Given the description of an element on the screen output the (x, y) to click on. 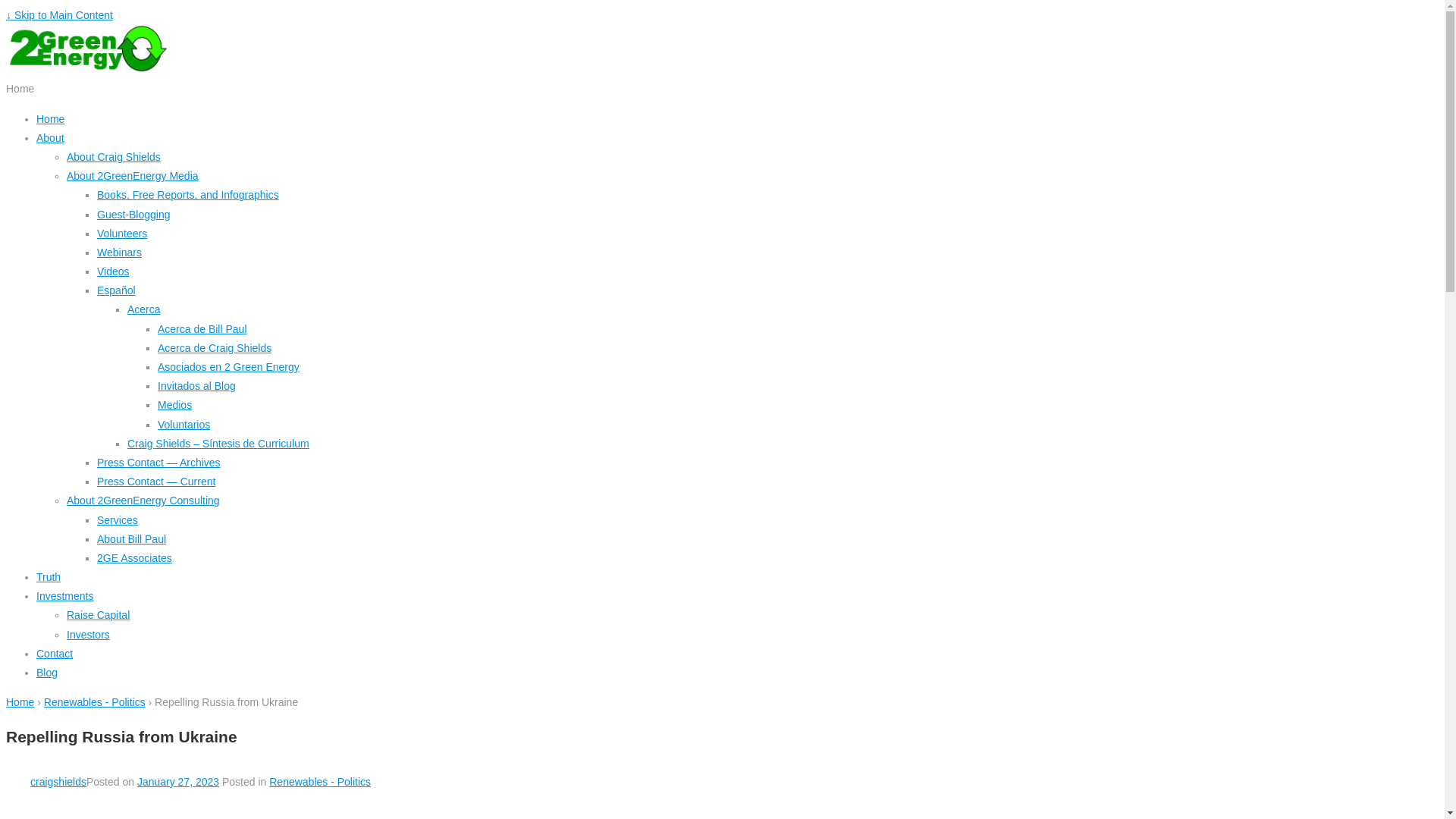
Home Element type: text (50, 118)
Acerca de Bill Paul Element type: text (202, 329)
About Craig Shields Element type: text (113, 156)
Blog Element type: text (46, 672)
Home Element type: text (20, 702)
Invitados al Blog Element type: text (196, 385)
Contact Element type: text (54, 653)
Raise Capital Element type: text (97, 614)
Asociados en 2 Green Energy Element type: text (228, 366)
About Bill Paul Element type: text (131, 539)
About 2GreenEnergy Consulting Element type: text (142, 500)
craigshields Element type: text (46, 781)
Renewables - Politics Element type: text (319, 781)
2GE Associates Element type: text (134, 558)
Webinars Element type: text (119, 252)
Books, Free Reports, and Infographics Element type: text (188, 194)
About 2GreenEnergy Media Element type: text (132, 175)
Voluntarios Element type: text (183, 424)
Services Element type: text (117, 520)
Truth Element type: text (48, 577)
Acerca de Craig Shields Element type: text (214, 348)
Investors Element type: text (87, 634)
About Element type: text (50, 137)
Investments Element type: text (64, 595)
Volunteers Element type: text (122, 233)
January 27, 2023 Element type: text (178, 781)
Medios Element type: text (174, 404)
Acerca Element type: text (143, 309)
Renewables - Politics Element type: text (94, 702)
Videos Element type: text (113, 271)
Guest-Blogging Element type: text (133, 213)
